Given the description of an element on the screen output the (x, y) to click on. 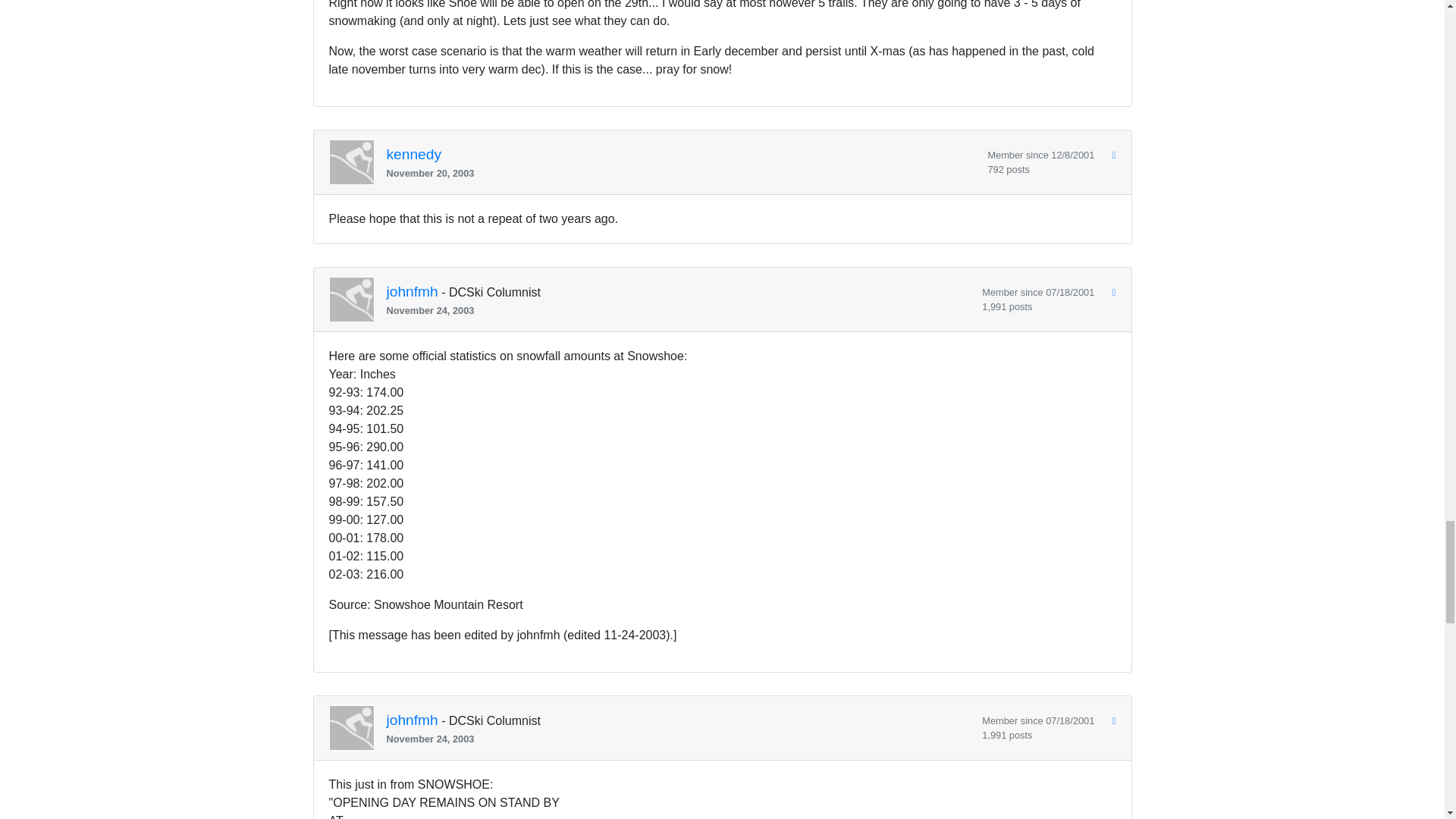
November 24, 2003 at 07:57 am (679, 310)
November 24, 2003 at 01:32 pm (679, 739)
November 20, 2003 at 12:28 am (681, 173)
